Given the description of an element on the screen output the (x, y) to click on. 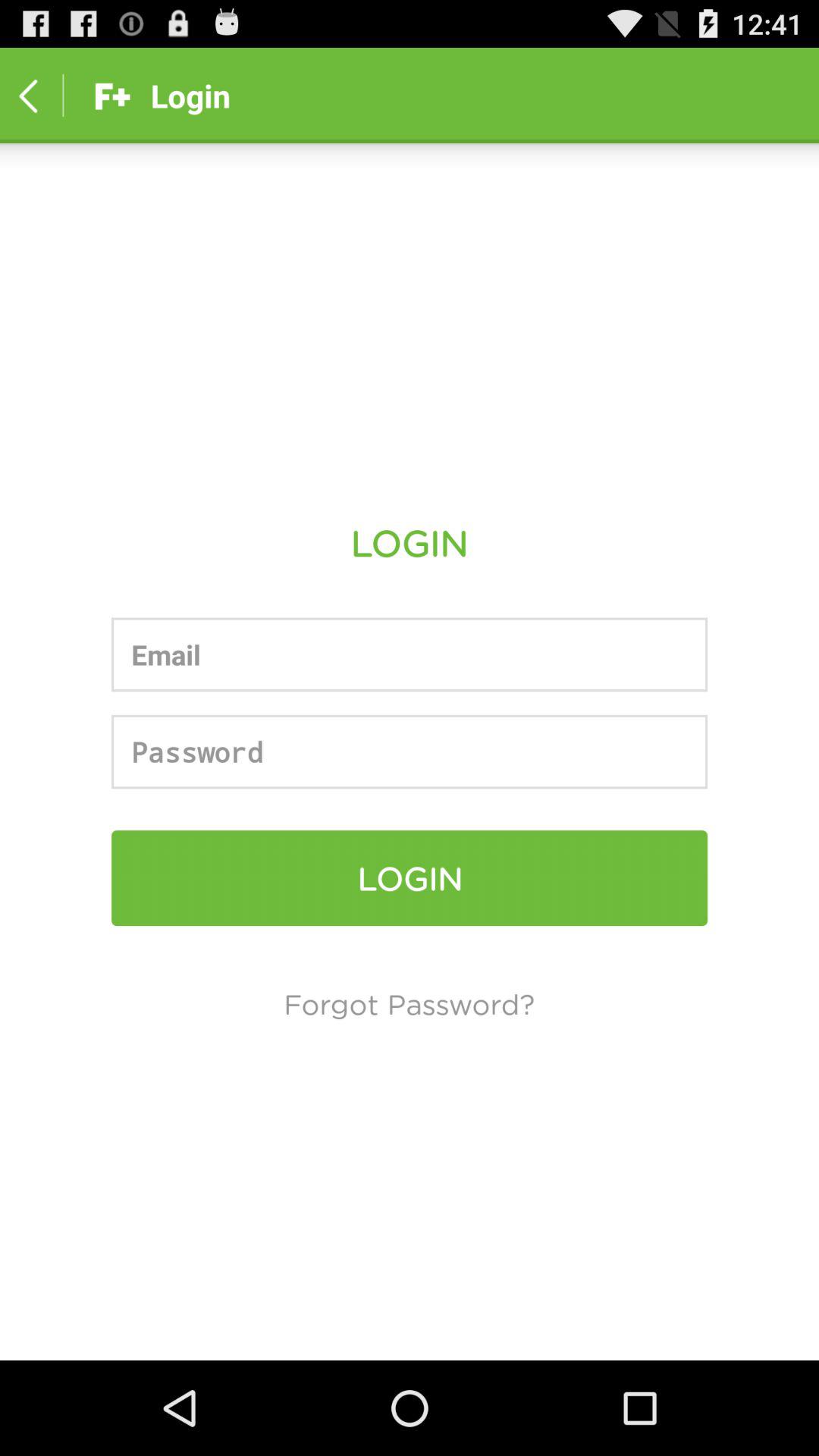
enter the email (409, 654)
